Given the description of an element on the screen output the (x, y) to click on. 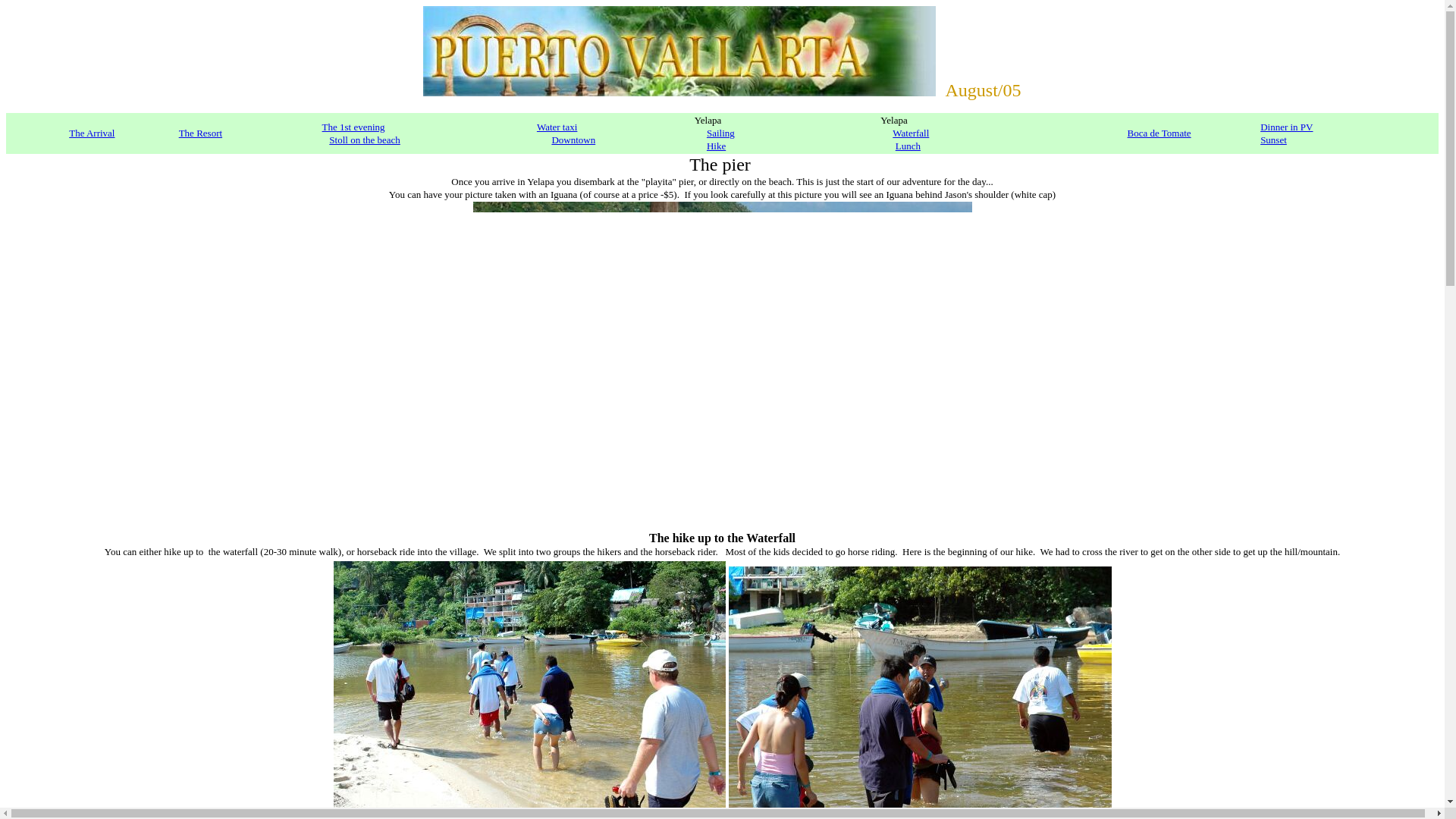
The Arrival (91, 132)
Waterfall (910, 132)
Boca de Tomate (1158, 132)
The Resort (200, 132)
The 1st evening (353, 126)
Sunset (1273, 138)
Water taxi (556, 126)
Hike (715, 145)
Sailing (720, 132)
Downtown (573, 138)
Stoll on the beach (364, 138)
Lunch (907, 145)
Dinner in PV (1286, 126)
